Given the description of an element on the screen output the (x, y) to click on. 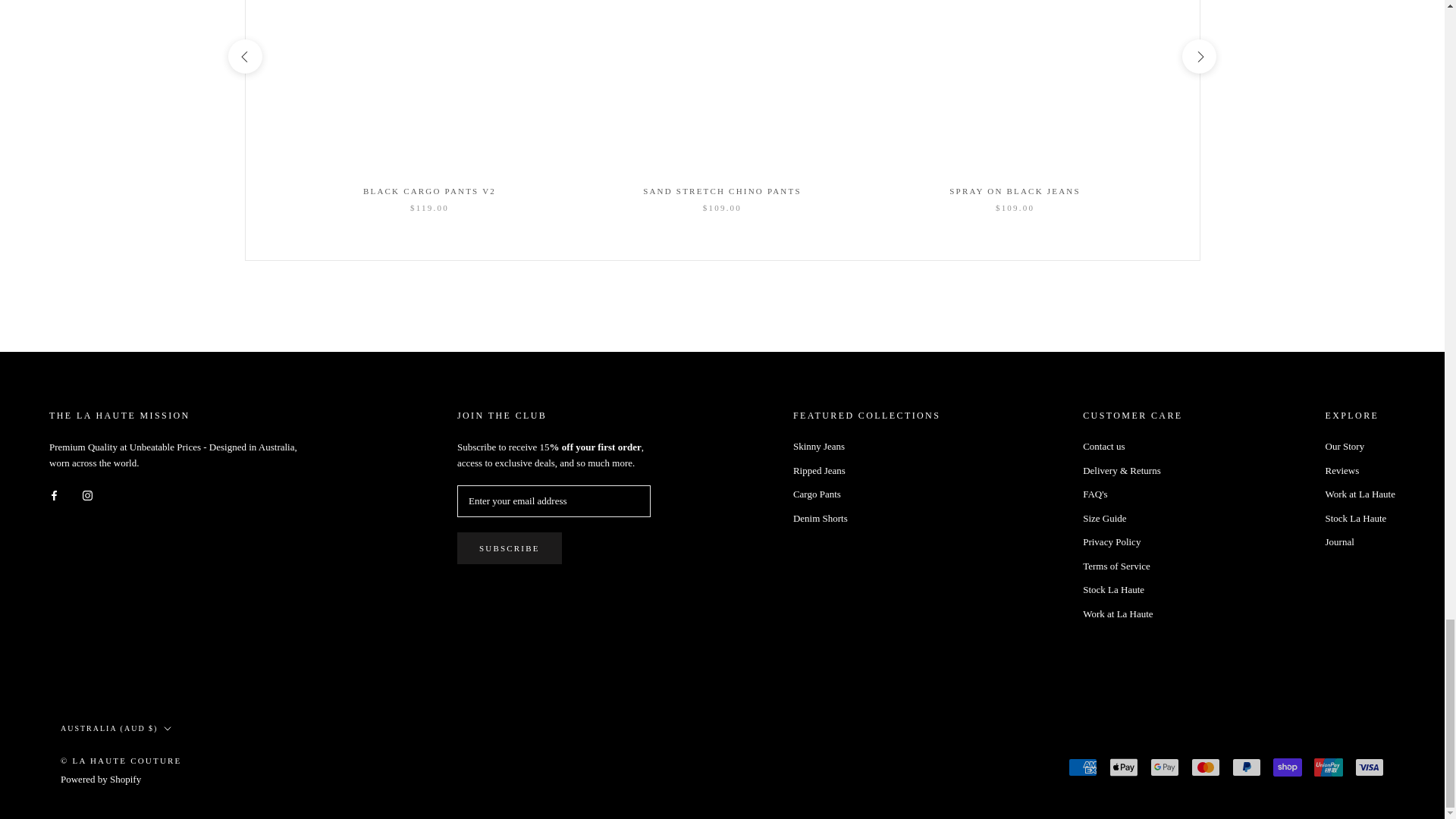
Visa (1369, 767)
Shop Pay (1286, 767)
American Express (1082, 767)
Mastercard (1205, 767)
PayPal (1245, 767)
Union Pay (1328, 767)
Apple Pay (1123, 767)
Google Pay (1164, 767)
